Given the description of an element on the screen output the (x, y) to click on. 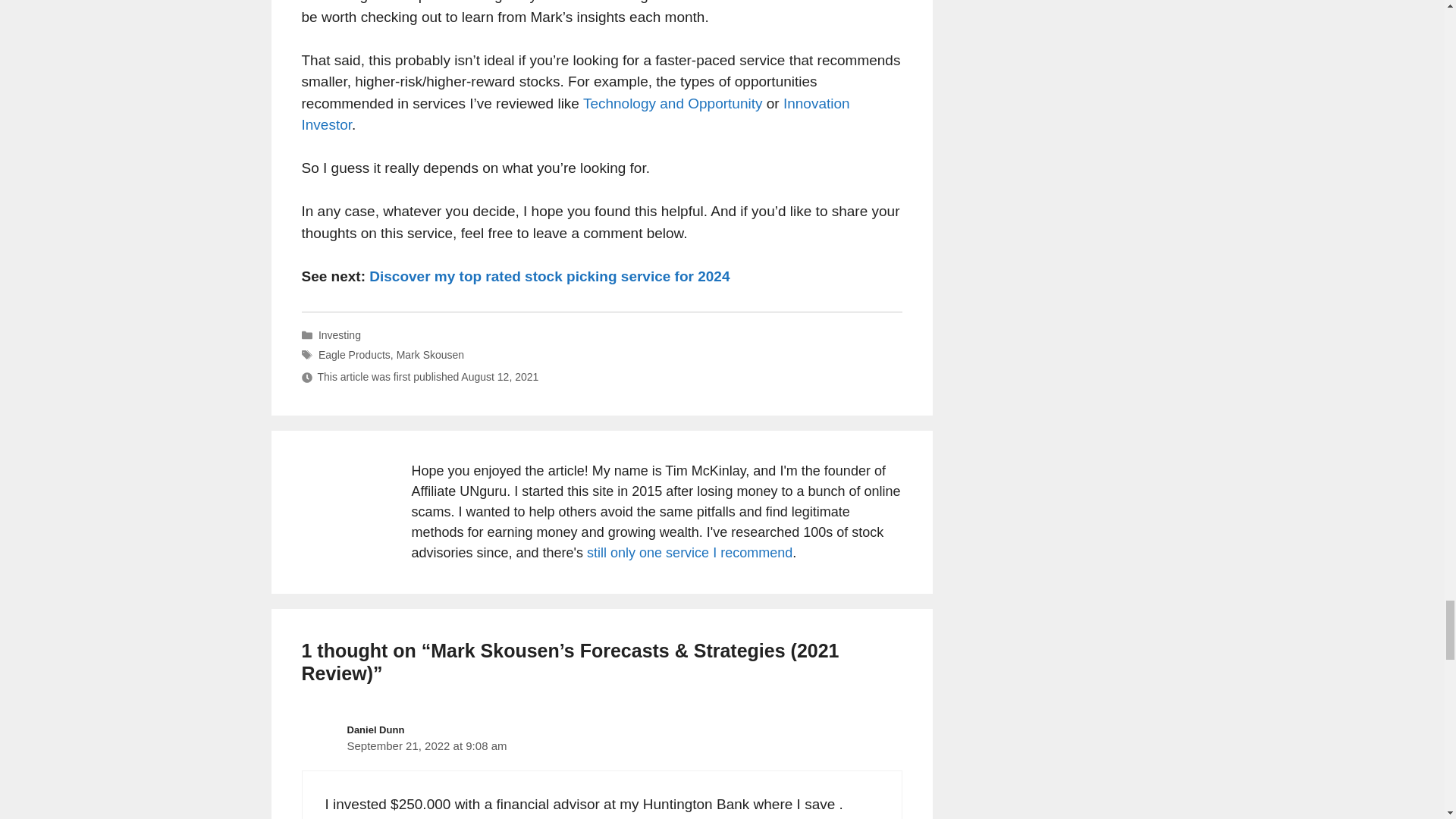
Technology and Opportunity (672, 103)
still only one service I recommend (689, 552)
September 21, 2022 at 9:08 am (426, 745)
Mark Skousen (430, 354)
Discover my top rated stock picking service for 2024 (549, 276)
Investing (339, 335)
Eagle Products (354, 354)
Innovation Investor (575, 114)
